Given the description of an element on the screen output the (x, y) to click on. 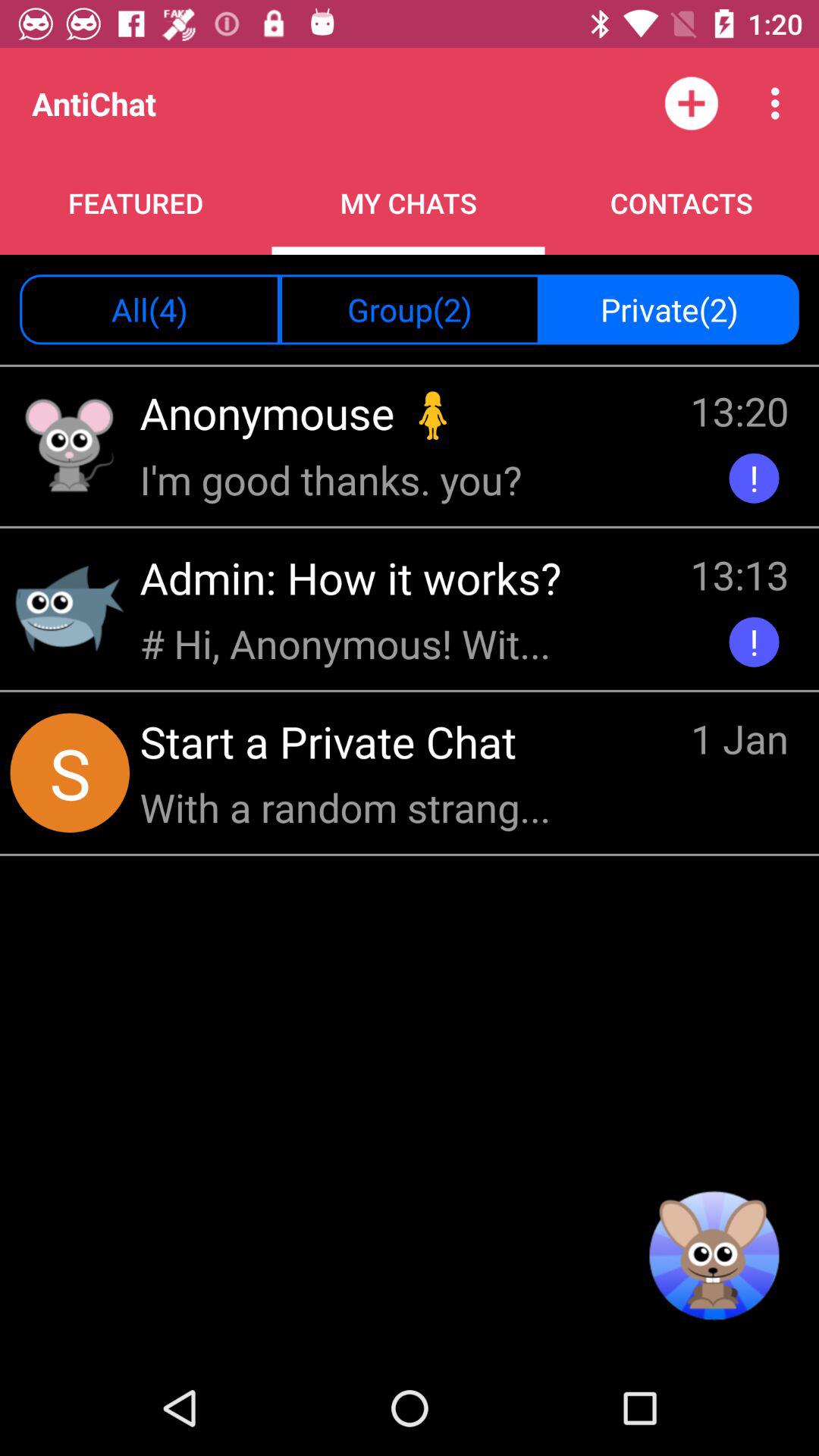
press the item above the contacts item (779, 103)
